Given the description of an element on the screen output the (x, y) to click on. 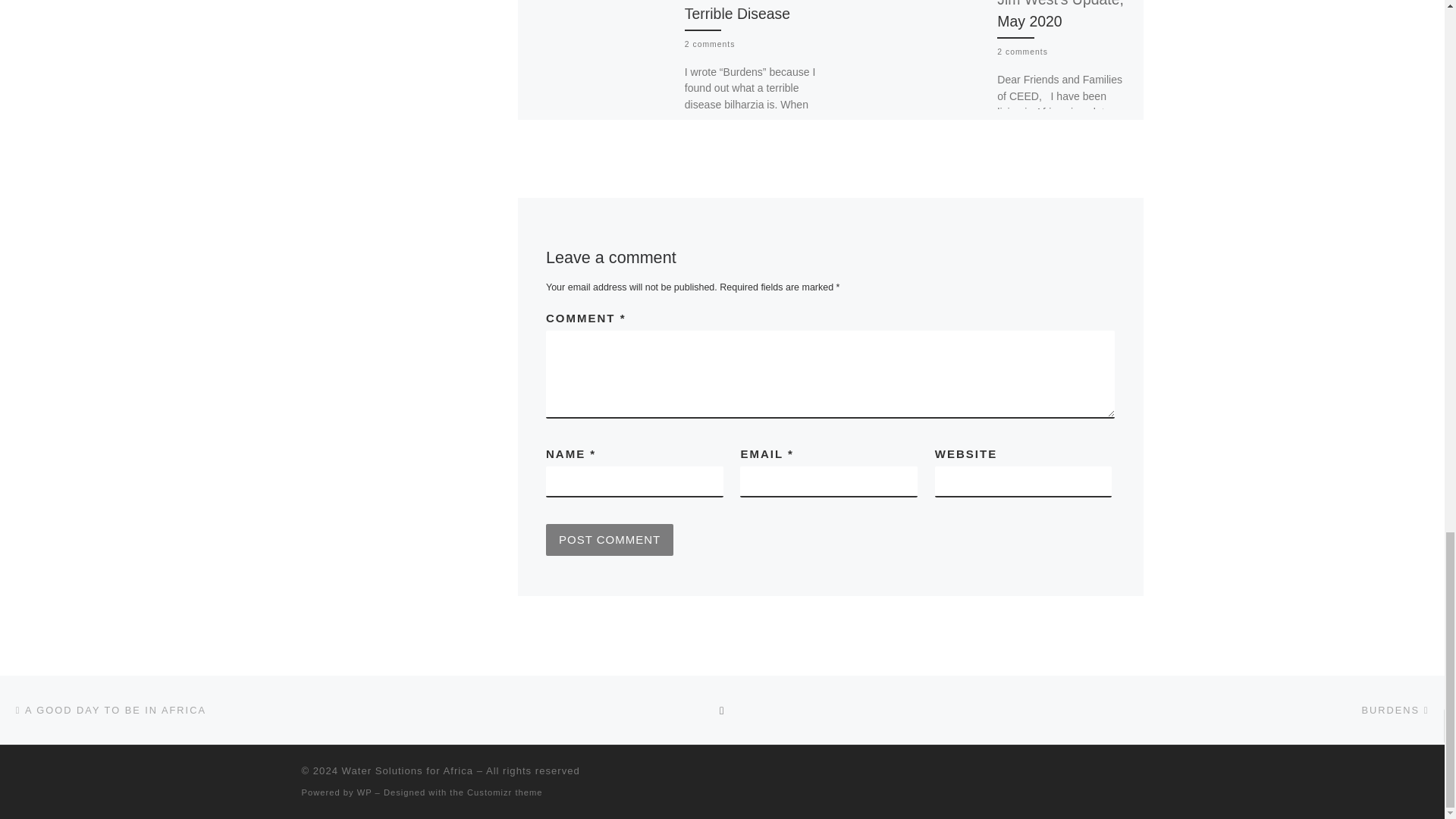
2 Comments on Terrible Disease (709, 44)
Post Comment (609, 540)
